Given the description of an element on the screen output the (x, y) to click on. 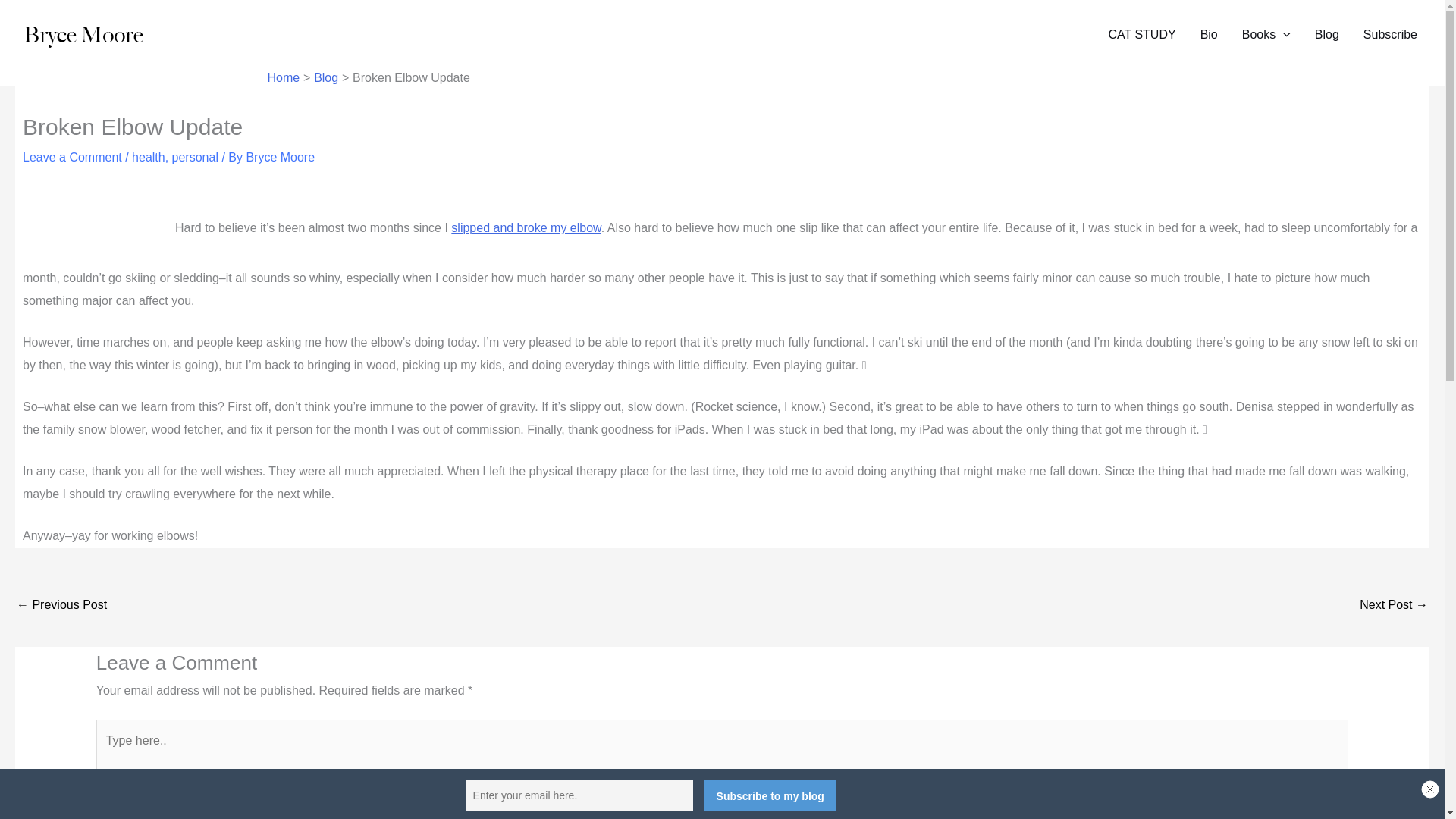
Subscribe to my blog (769, 795)
personal (194, 156)
Books (1266, 34)
CAT STUDY (1142, 34)
Subscribe (1390, 34)
health (148, 156)
Home (282, 77)
Blog (1327, 34)
Blog (325, 77)
Book Giveaway: The Basic Version (61, 605)
